Given the description of an element on the screen output the (x, y) to click on. 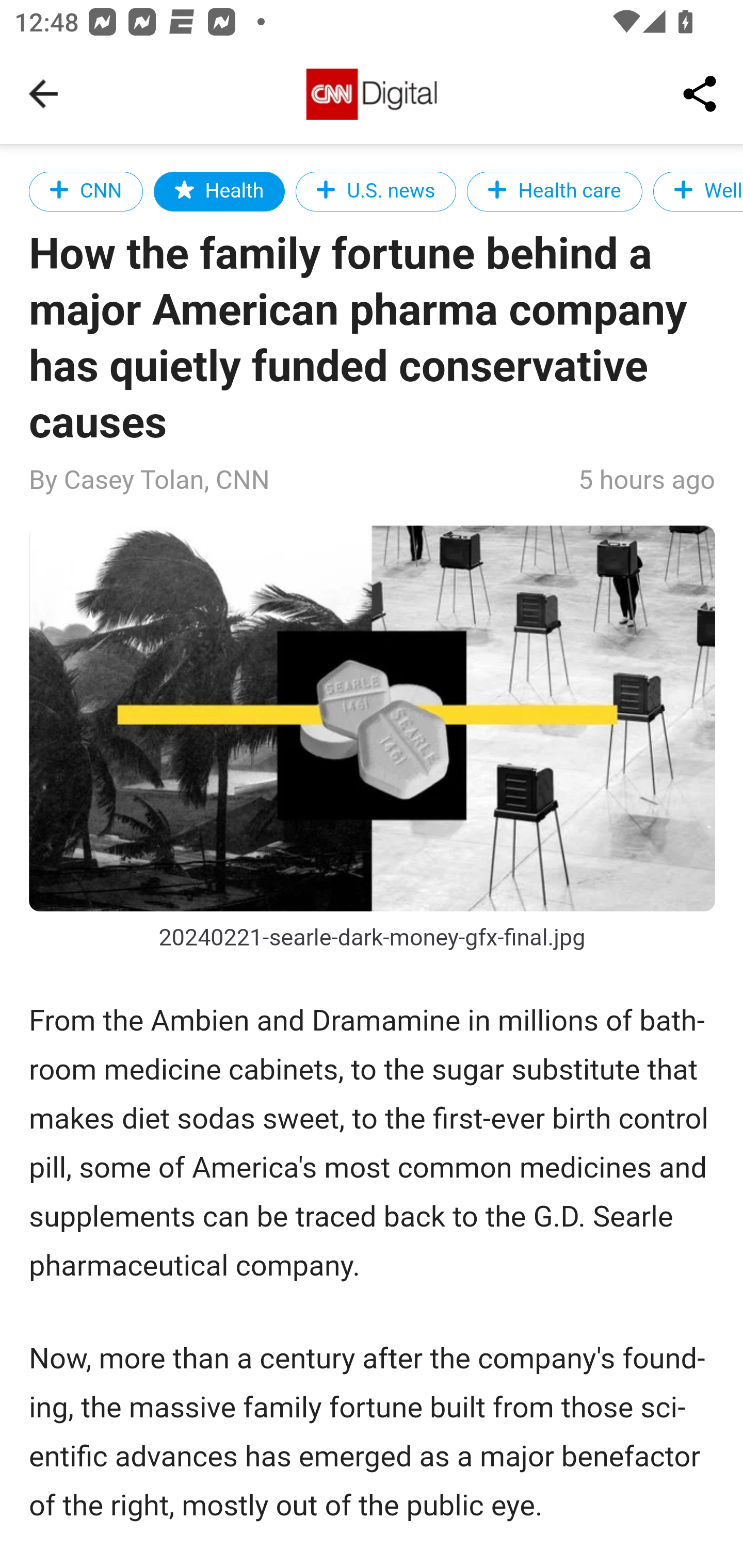
CNN (86, 191)
Health (219, 191)
U.S. news (375, 191)
Health care (553, 191)
